Given the description of an element on the screen output the (x, y) to click on. 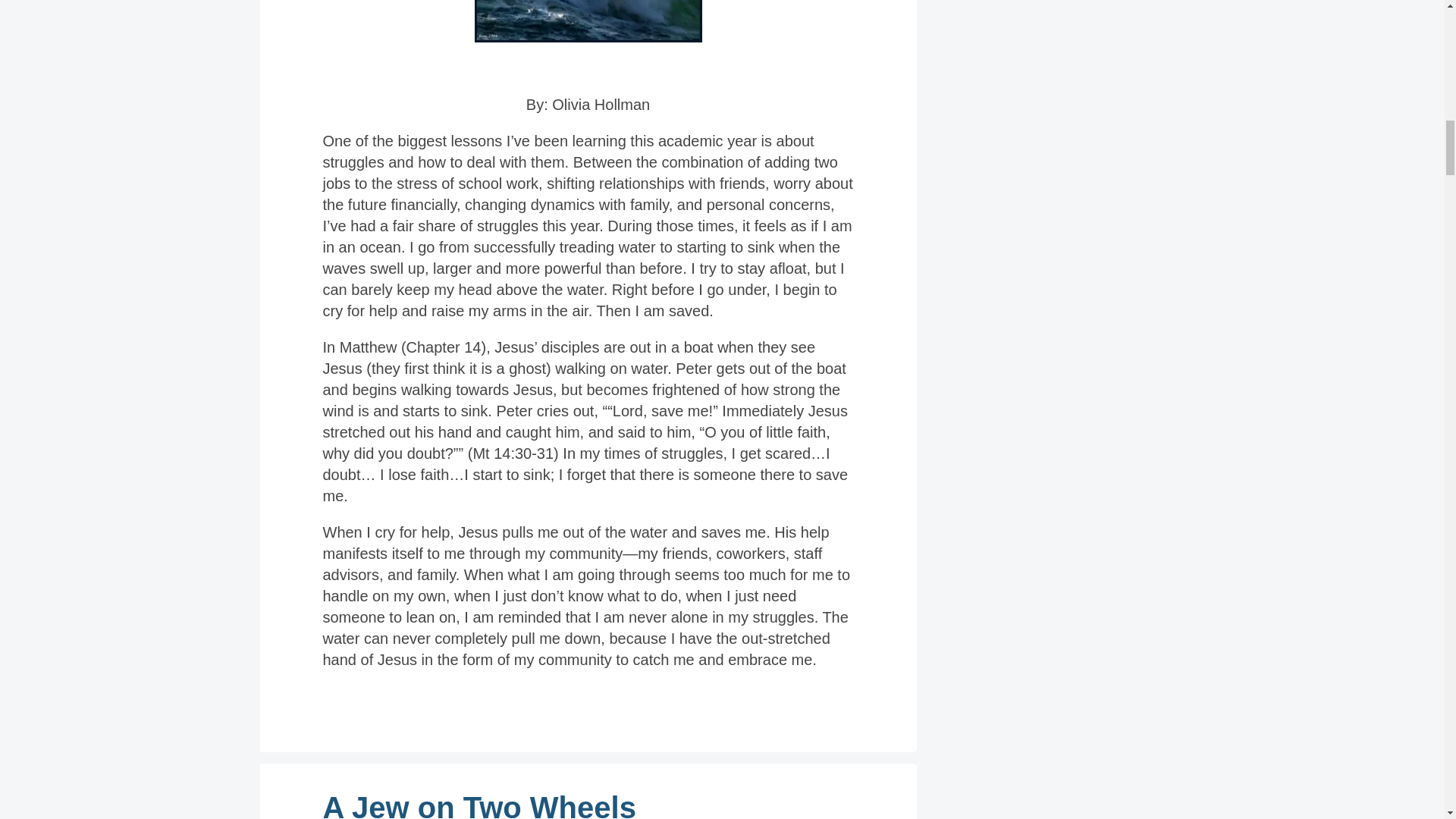
Subscribe me! (1050, 290)
A Jew on Two Wheels (479, 805)
